Given the description of an element on the screen output the (x, y) to click on. 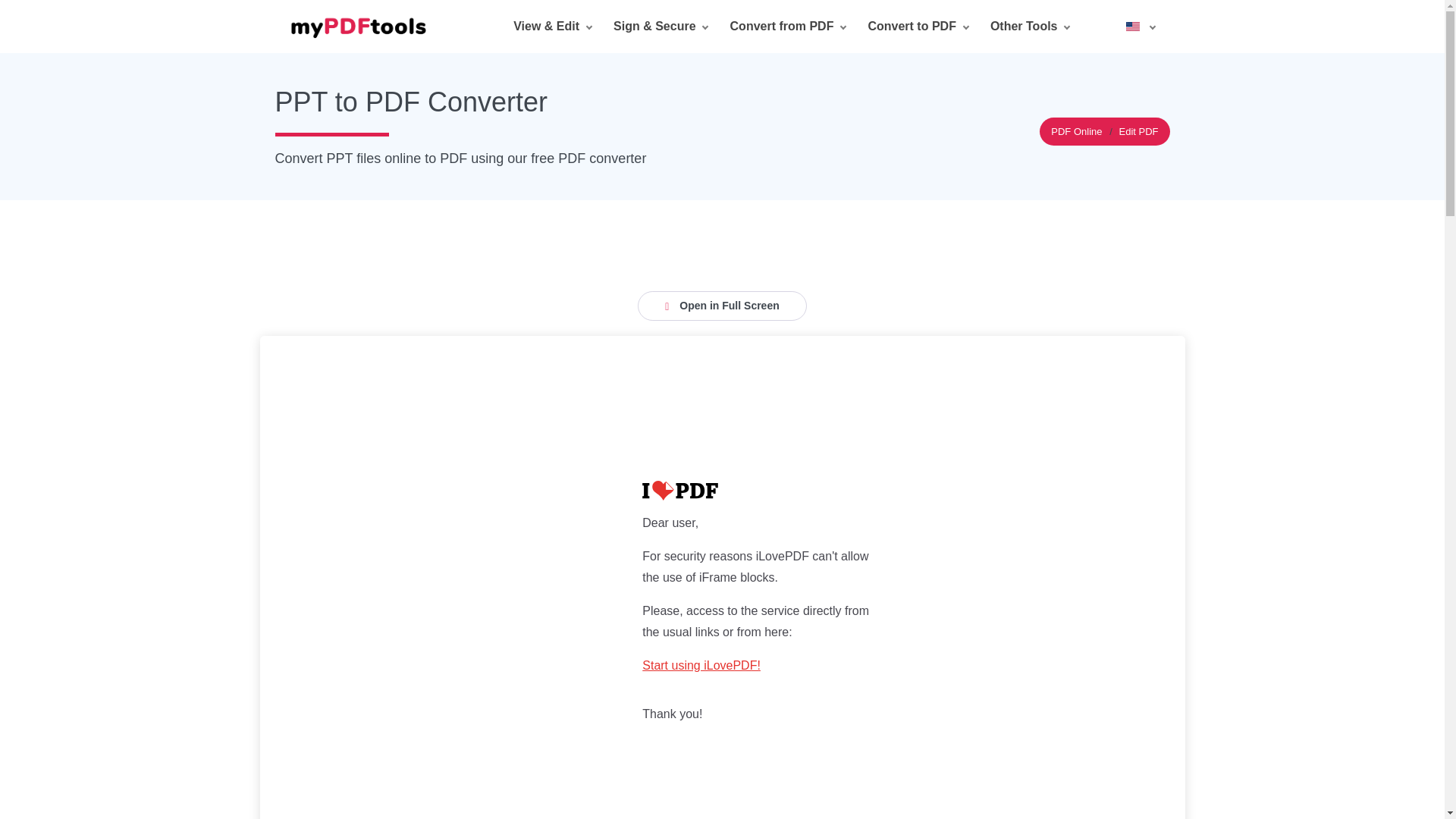
Convert to PDF (917, 26)
Advertisement (721, 233)
Convert from PDF (788, 26)
